Given the description of an element on the screen output the (x, y) to click on. 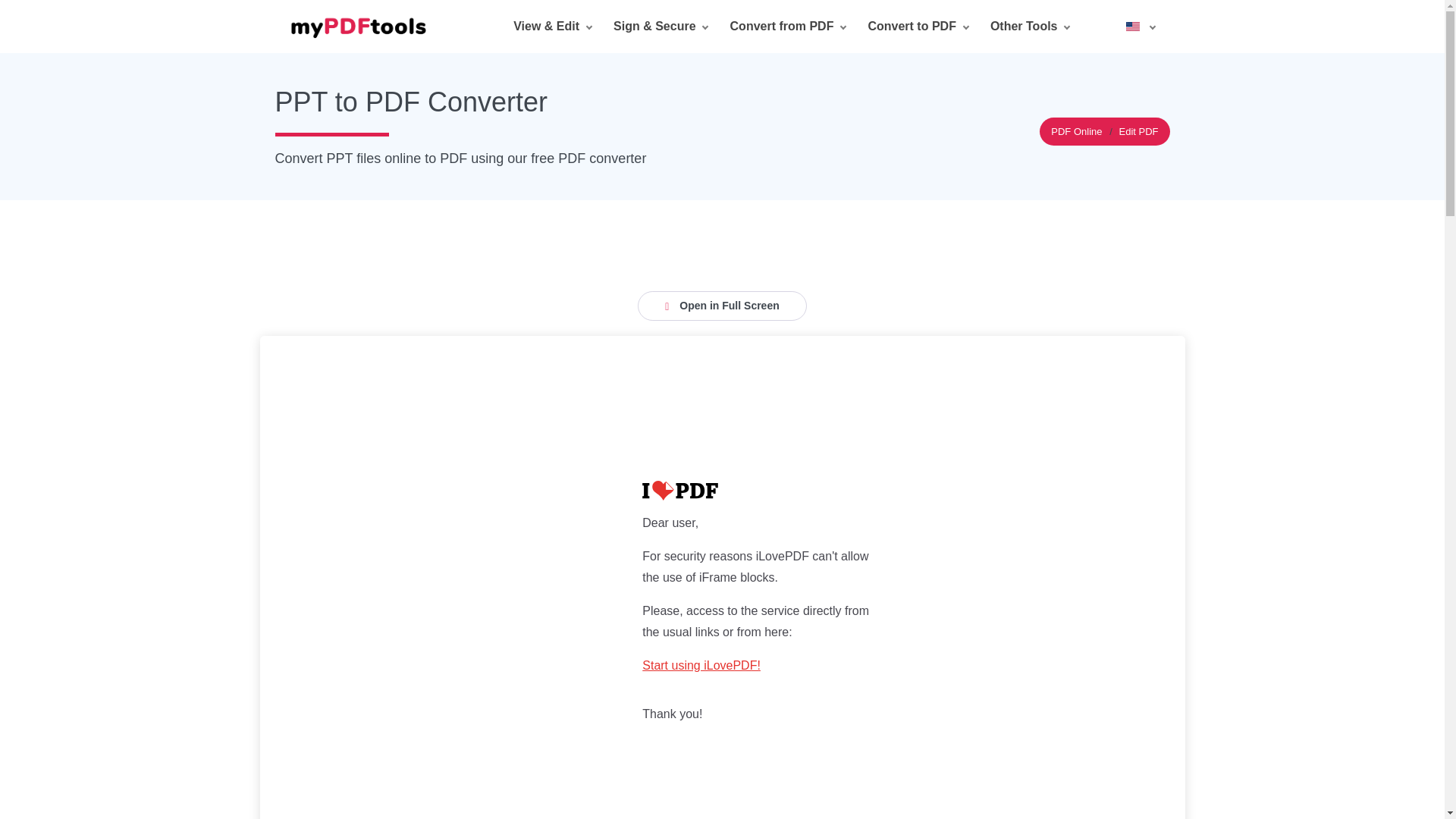
Convert to PDF (917, 26)
Advertisement (721, 233)
Convert from PDF (788, 26)
